Given the description of an element on the screen output the (x, y) to click on. 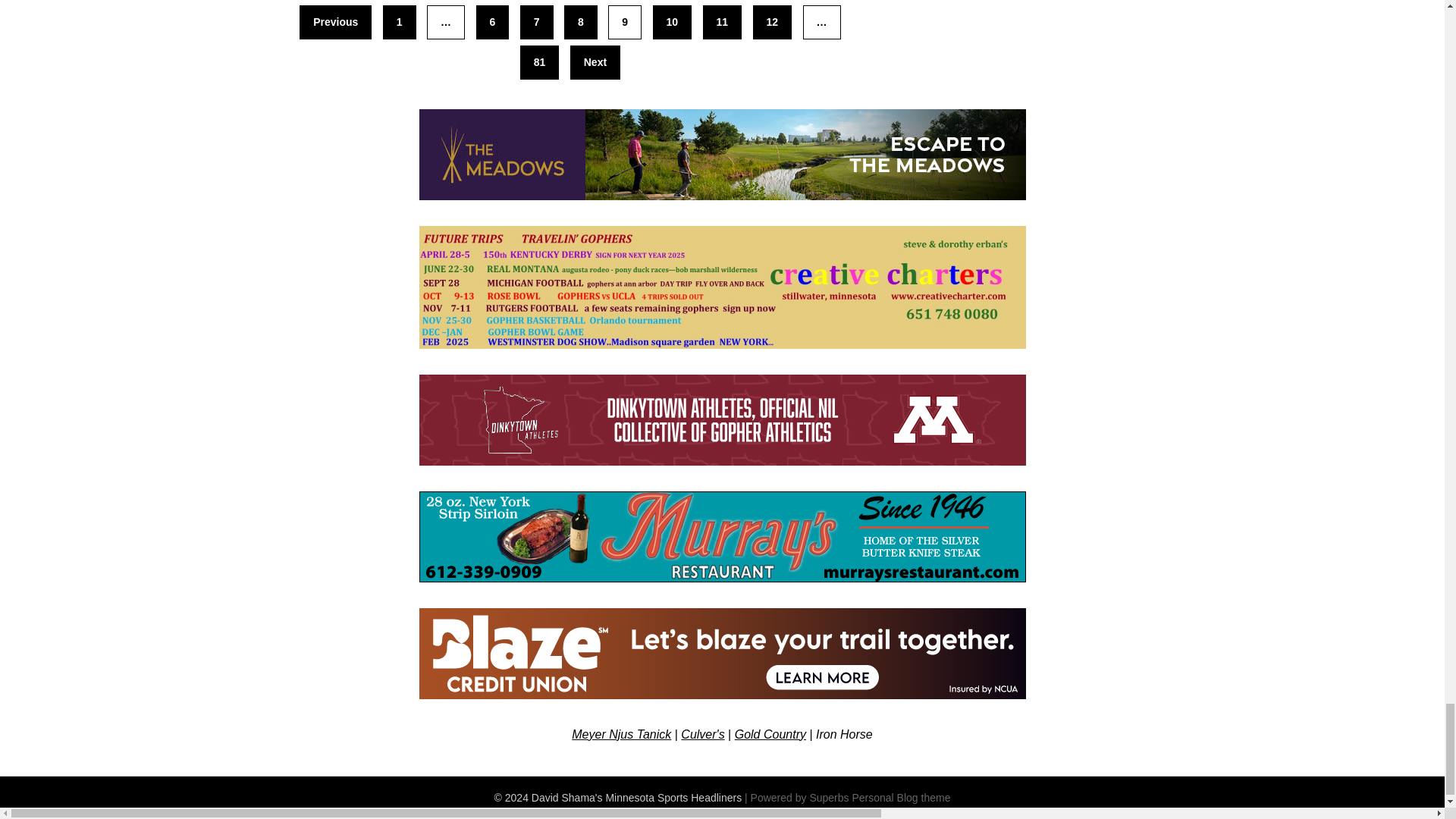
7 (536, 21)
Previous (335, 21)
6 (492, 21)
1 (399, 21)
8 (580, 21)
